Given the description of an element on the screen output the (x, y) to click on. 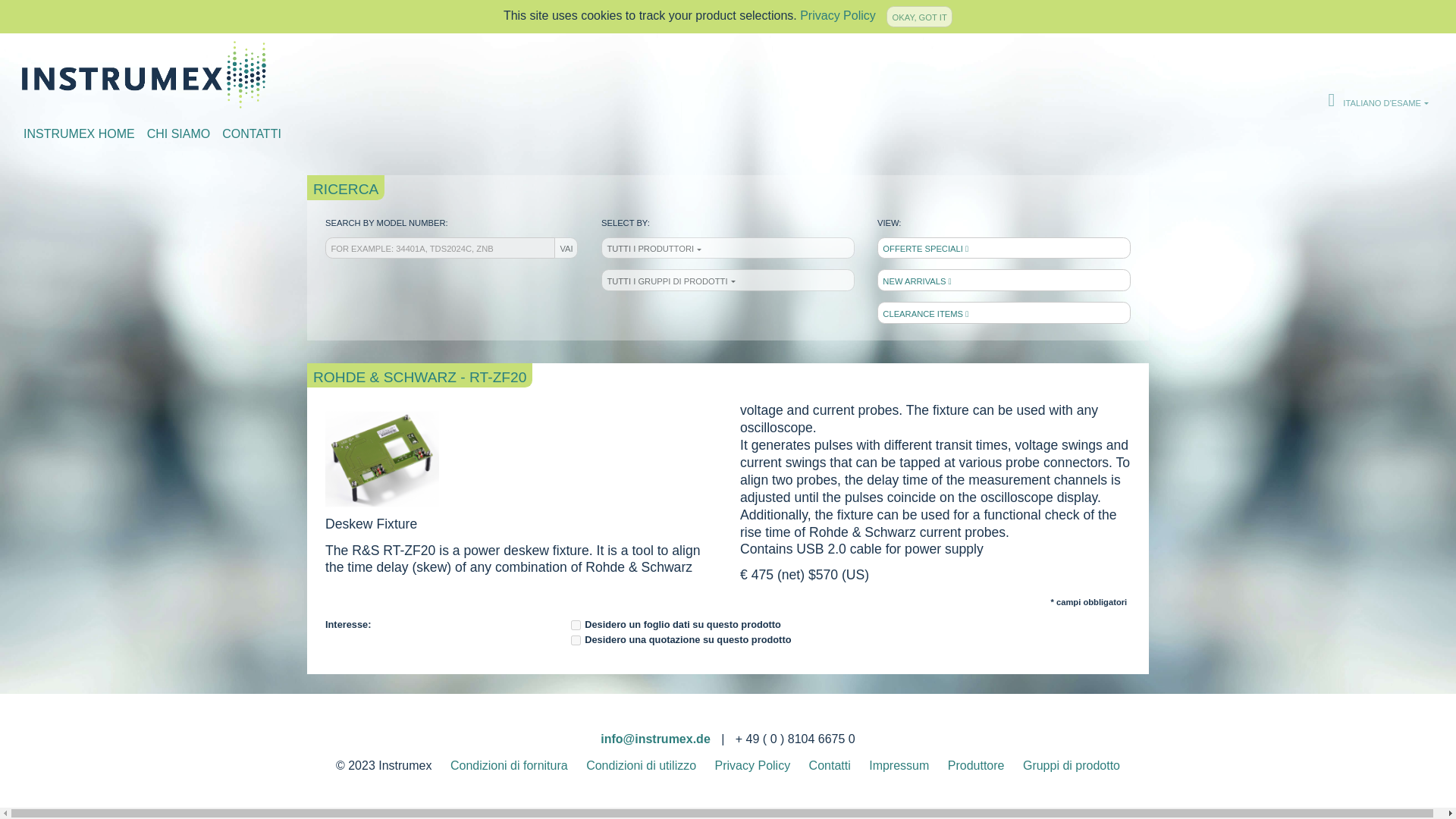
INSTRUMEX HOME (79, 134)
QUOTATION (575, 624)
ITALIANO D'ESAME (1379, 100)
Privacy Policy (837, 15)
CONTATTI (251, 134)
DATASHEET (575, 640)
OKAY, GOT IT (919, 16)
VAI (566, 247)
TUTTI I PRODUTTORI (727, 247)
CHI SIAMO (179, 134)
